Given the description of an element on the screen output the (x, y) to click on. 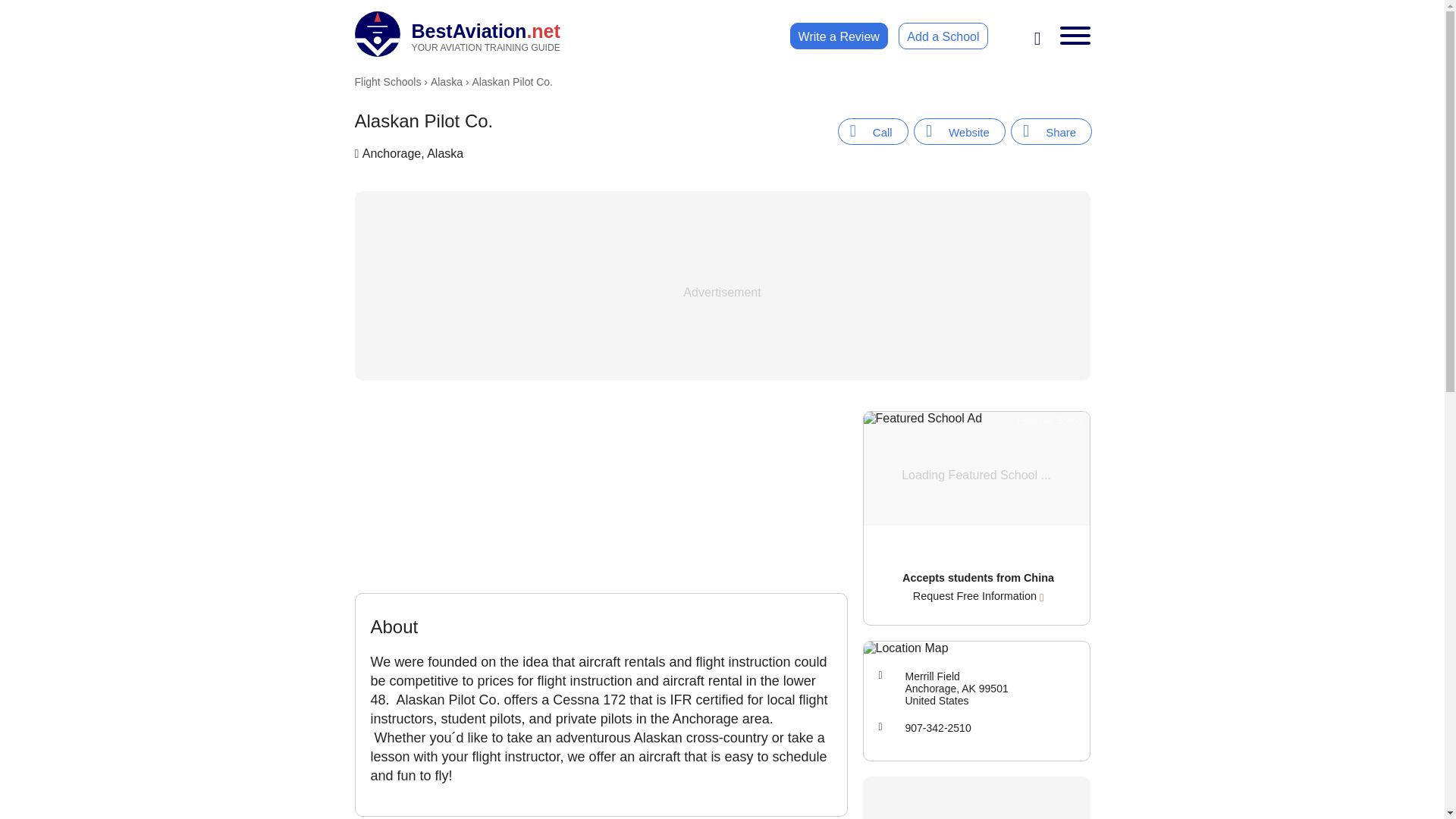
Best Aviation Schools (457, 32)
Write a Review (839, 35)
Add your aviation school (942, 35)
Review an aviation school (839, 35)
Alaskan Pilot Co. (1051, 130)
Visit website (960, 130)
Add a School (942, 35)
Website (960, 130)
Share (1051, 130)
Flight Schools (388, 81)
Call (457, 32)
Alaska (873, 130)
